Given the description of an element on the screen output the (x, y) to click on. 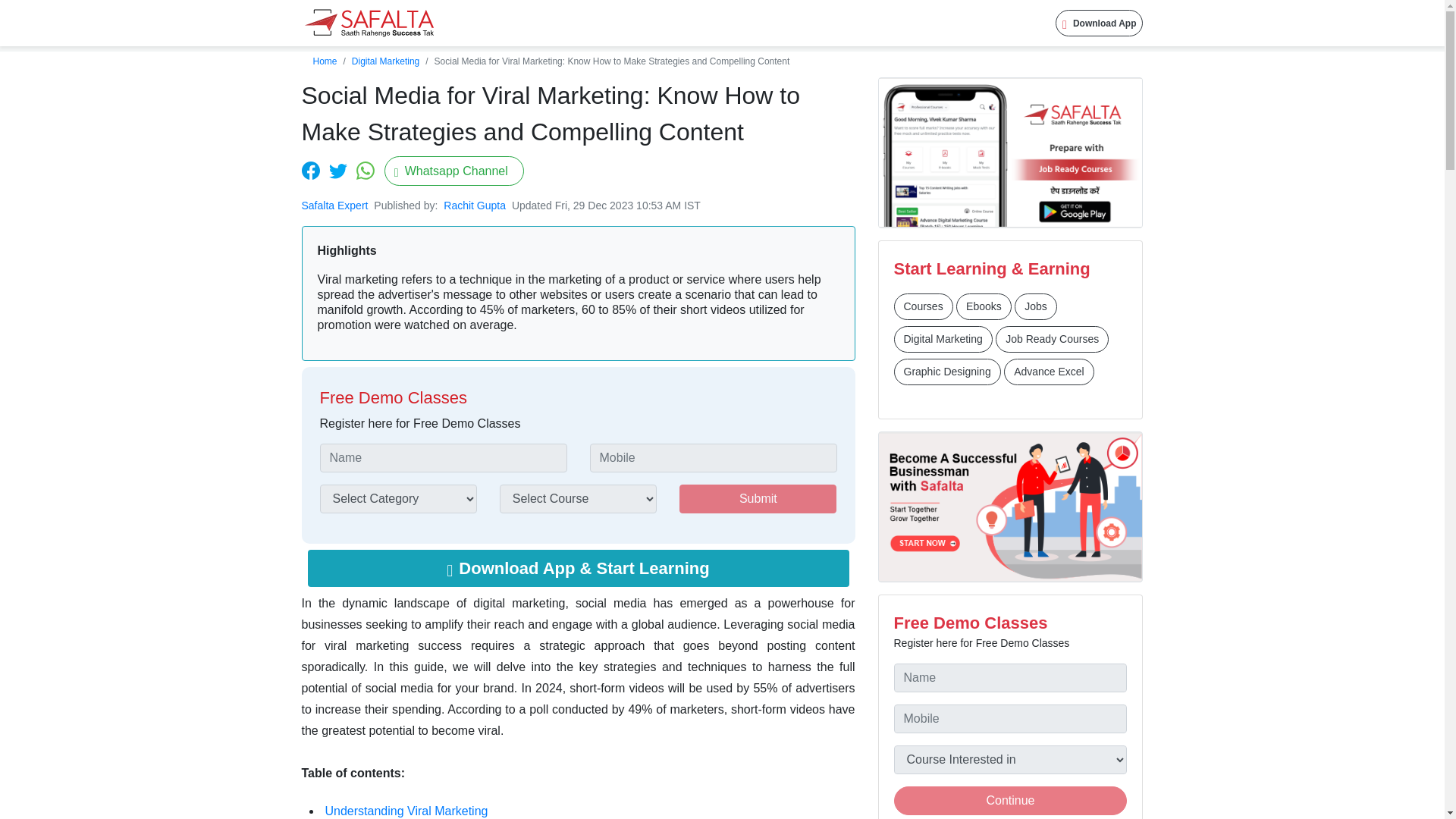
Safalta Exam Preparation Online (368, 22)
Safalta (368, 22)
Whatsapp Channel (454, 170)
Download App (1098, 22)
Safalta Expert (334, 205)
Start learning with - Ebooks (983, 306)
Start learning with - Jobs (1035, 306)
Start learning with - Courses (922, 306)
Start learning with - Job Ready Courses (1051, 338)
Start learning with - Digital Marketing (942, 338)
Submit (757, 498)
Start learning with - Graphic Designing (946, 371)
Download App (1098, 22)
Visit Rachit's Profile (476, 205)
Rachit Gupta (476, 205)
